Given the description of an element on the screen output the (x, y) to click on. 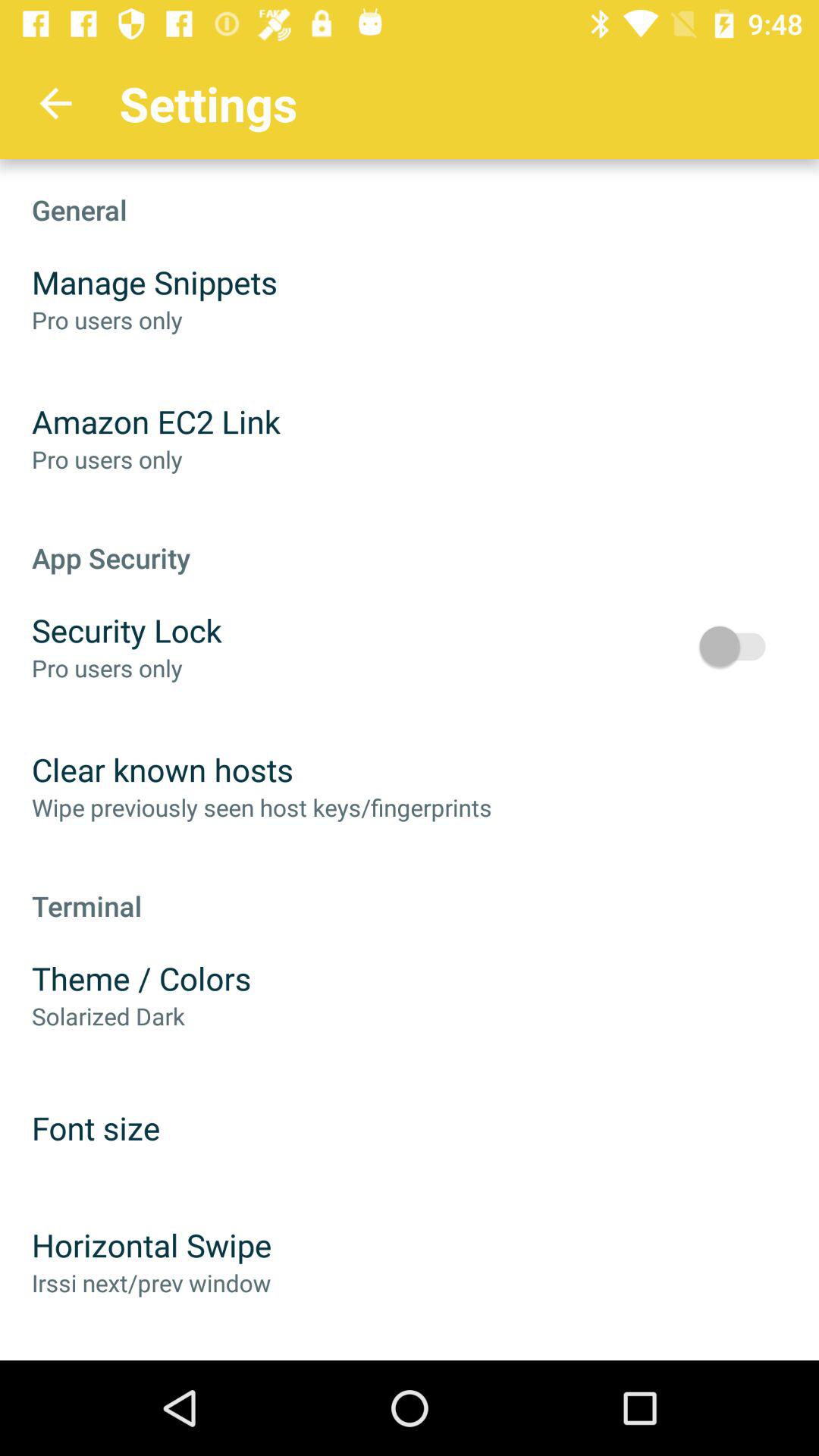
select amazon ec2 link item (155, 421)
